Given the description of an element on the screen output the (x, y) to click on. 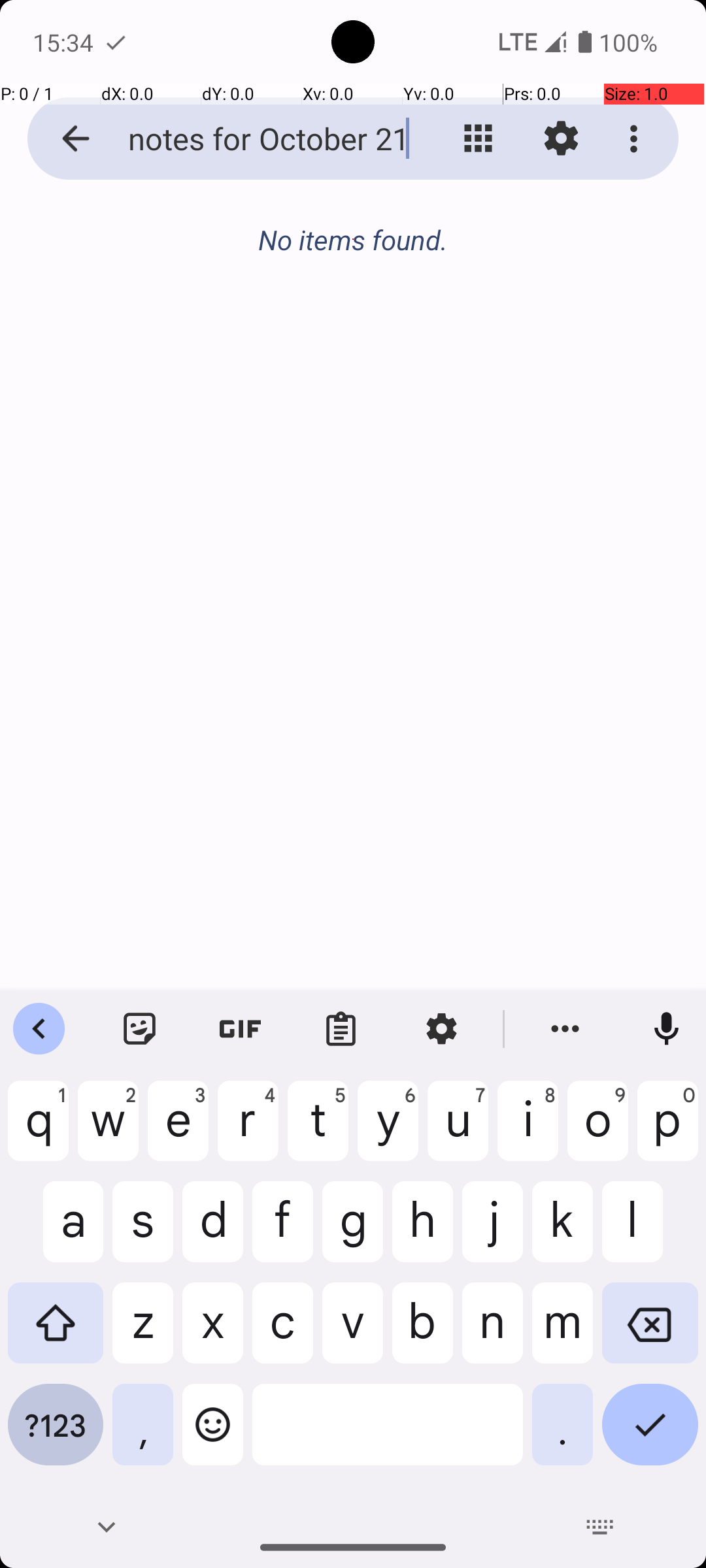
Meeting notes for October 21 Element type: android.widget.EditText (252, 138)
21 Saturday Element type: android.widget.TextView (366, 306)
07:00 PM - 08:00 PM Element type: android.widget.TextView (179, 389)
We will understand annual budget. Looking forward to productive discussions. Element type: android.widget.TextView (373, 424)
